Given the description of an element on the screen output the (x, y) to click on. 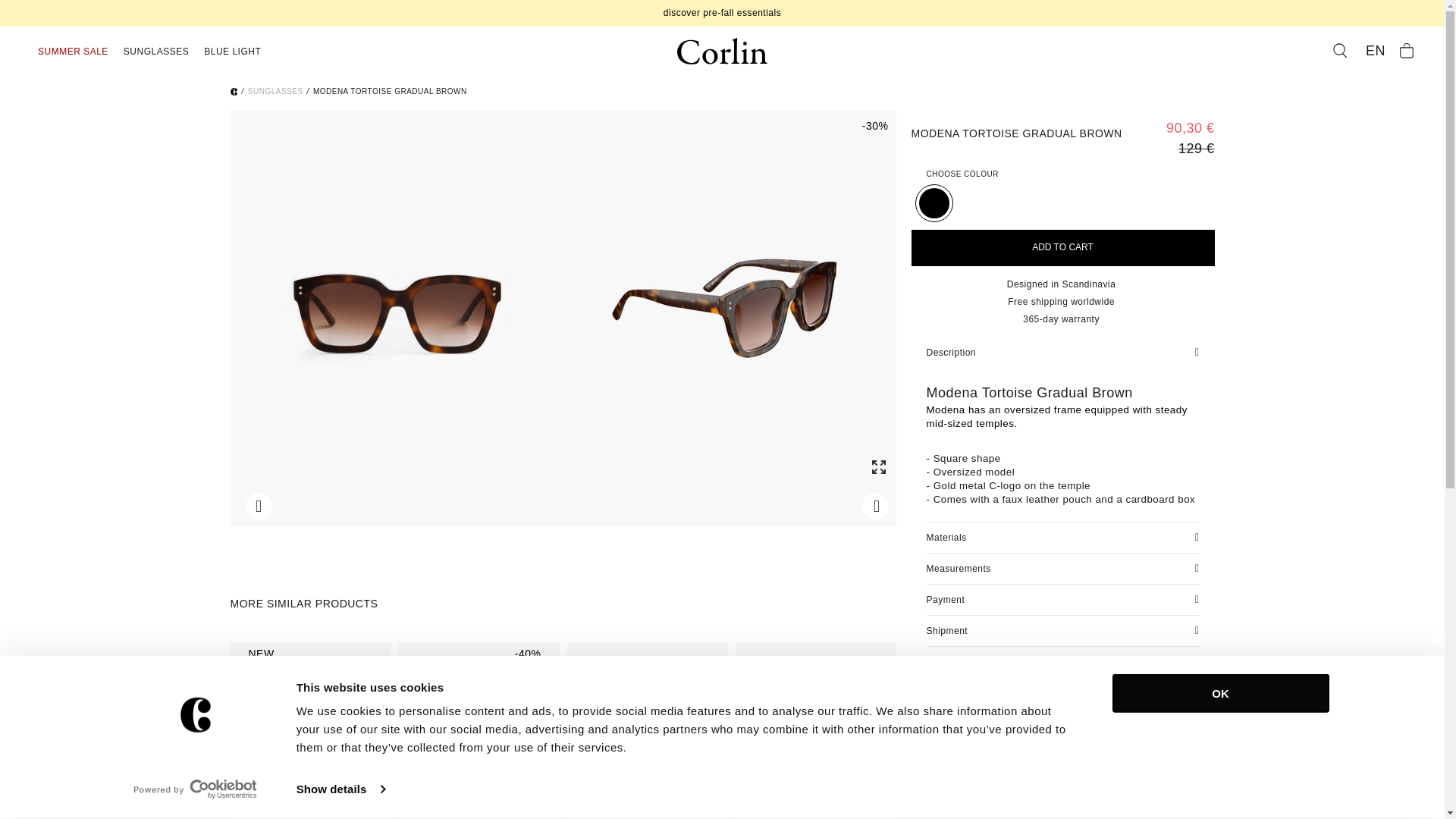
Sunglasses (234, 91)
Blue light (231, 51)
Sunglasses (156, 51)
Show details (340, 789)
Summer sale (72, 51)
